Given the description of an element on the screen output the (x, y) to click on. 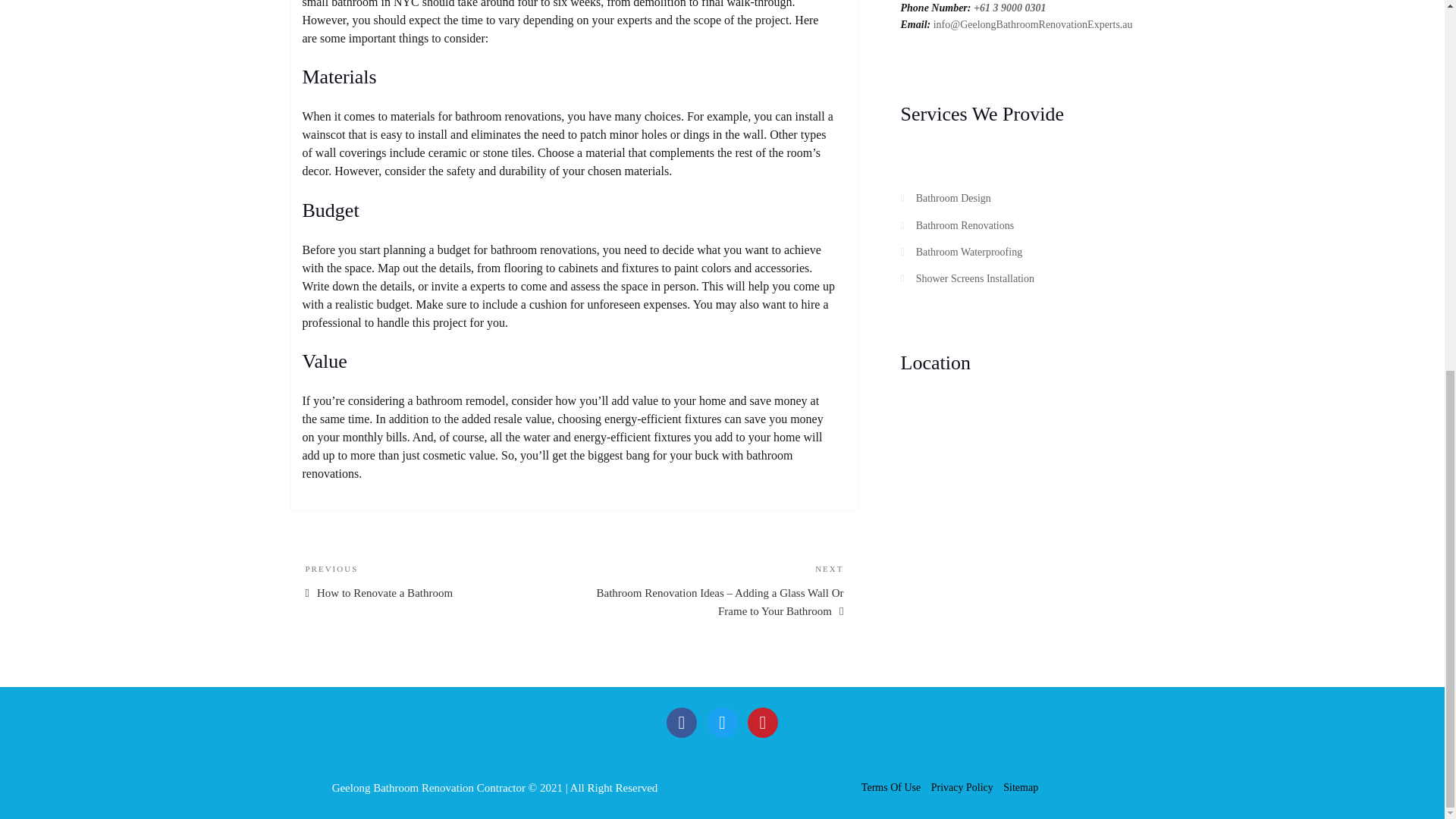
Bathroom Design (431, 580)
Google-Plus (953, 197)
Twitter (762, 722)
Facebook (721, 722)
Bathroom Waterproofing (681, 722)
Bathroom Renovations (969, 251)
Shower Screens Installation (964, 225)
